Given the description of an element on the screen output the (x, y) to click on. 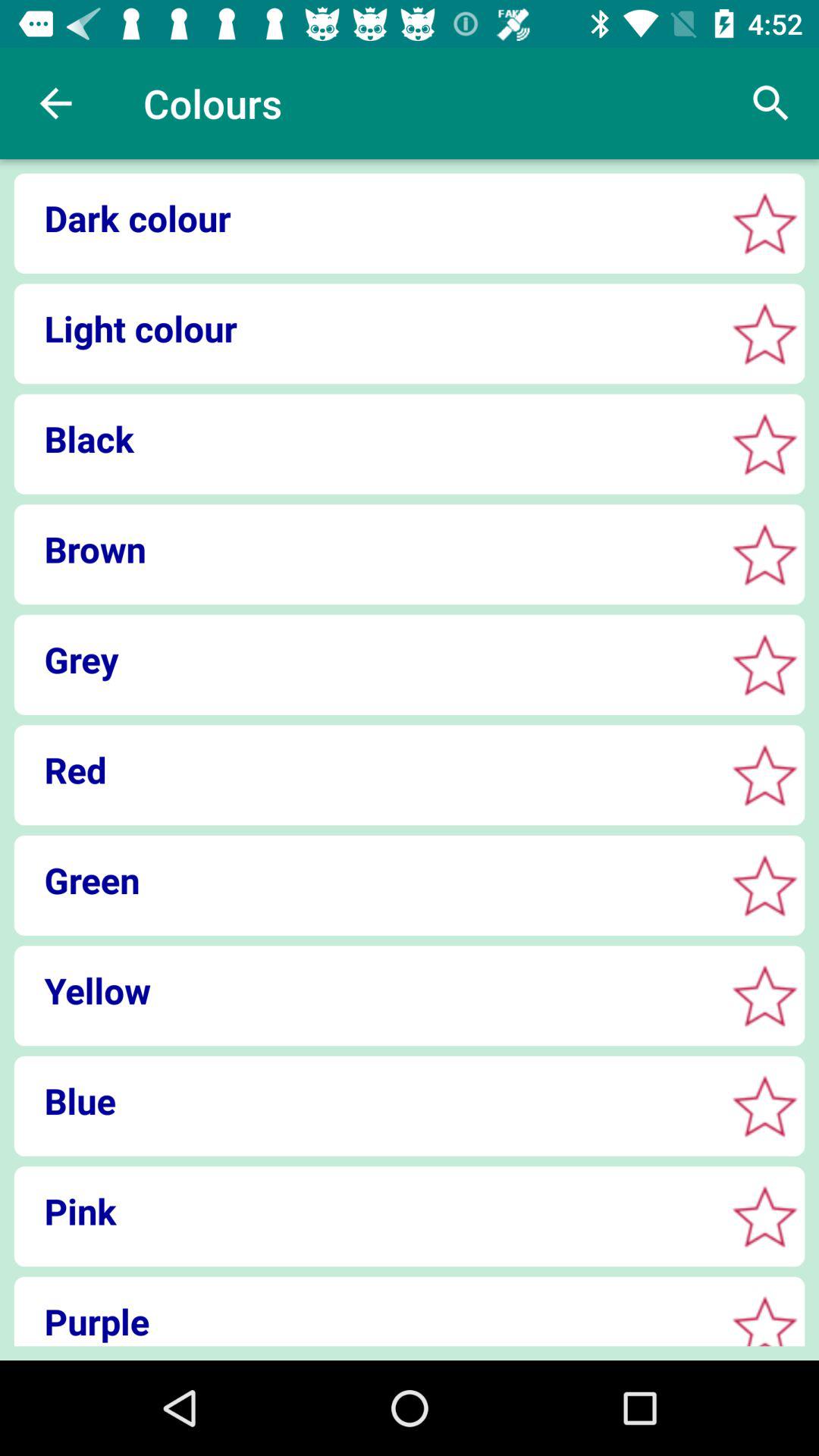
scroll to pink icon (364, 1210)
